Given the description of an element on the screen output the (x, y) to click on. 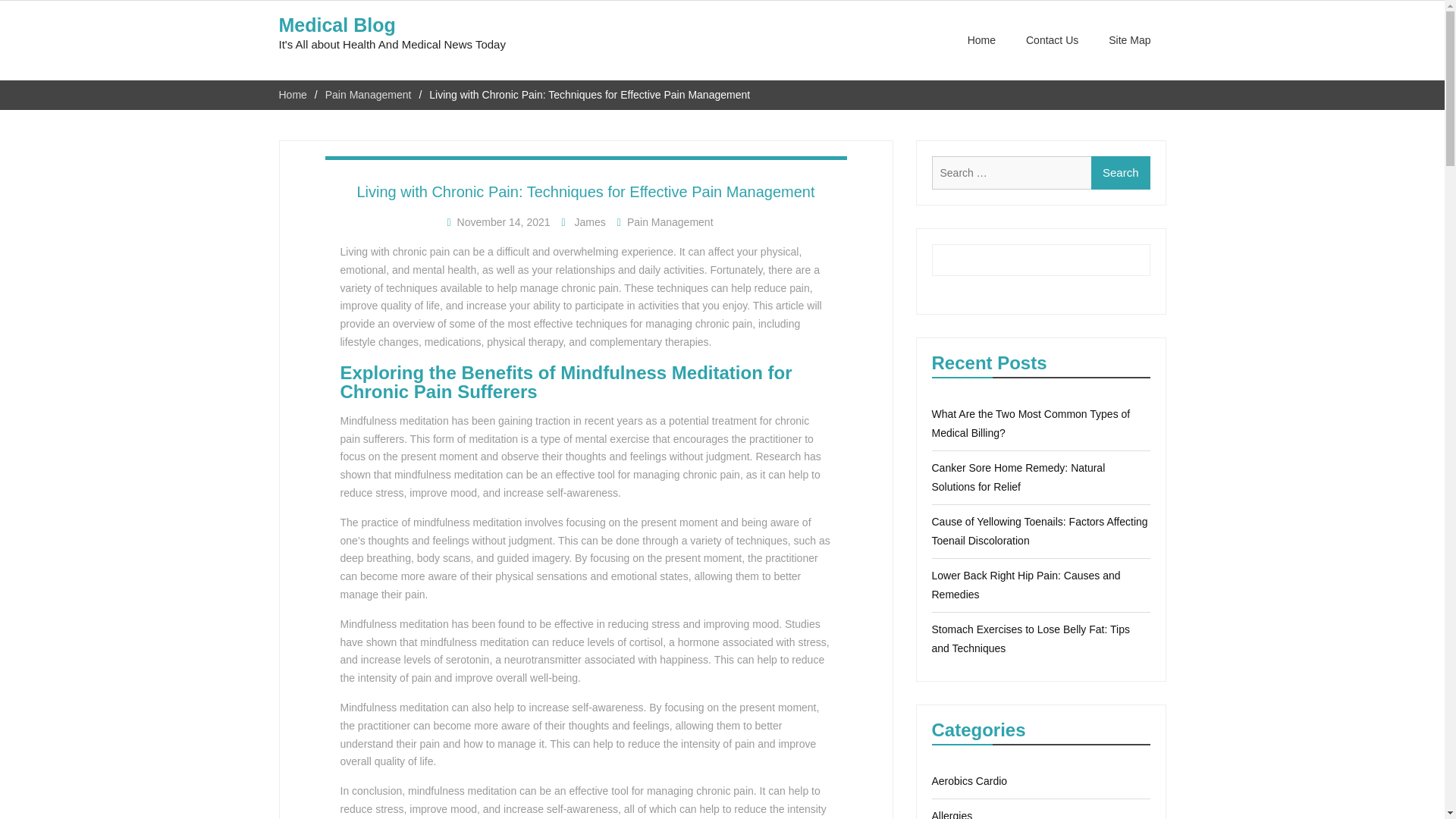
Canker Sore Home Remedy: Natural Solutions for Relief (1018, 477)
Stomach Exercises to Lose Belly Fat: Tips and Techniques (1030, 638)
Contact Us (1051, 40)
What Are the Two Most Common Types of Medical Billing? (1030, 422)
Home (293, 94)
Medical Blog (337, 25)
Home (981, 40)
Search (1120, 172)
James (590, 222)
Pain Management (368, 94)
Pain Management (670, 222)
Search (1120, 172)
Site Map (1129, 40)
